Given the description of an element on the screen output the (x, y) to click on. 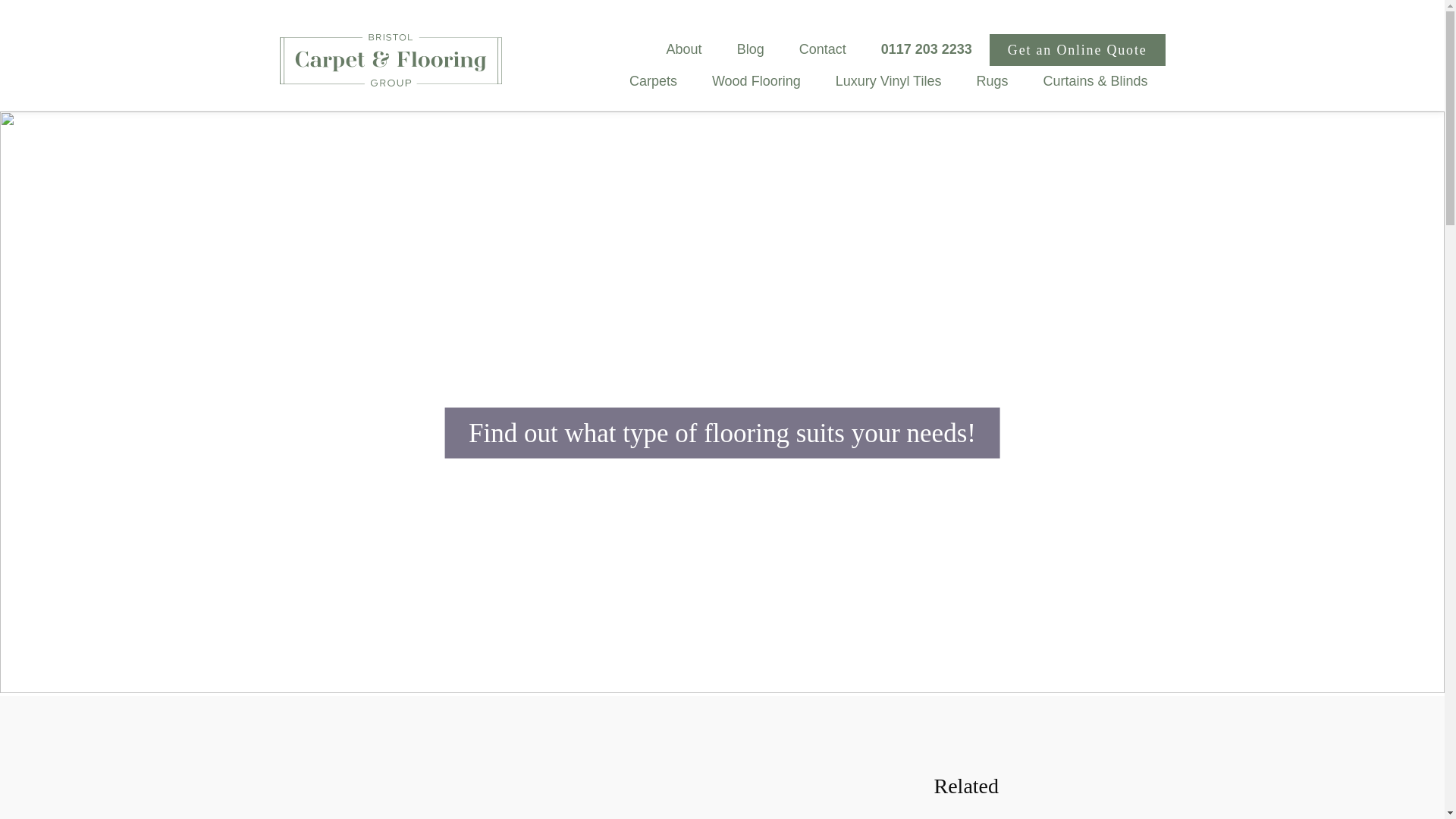
Contact (822, 48)
Get an Online Quote (1078, 50)
Carpets (652, 80)
About (683, 48)
0117 203 2233 (926, 48)
Rugs (991, 80)
Wood Flooring (755, 80)
Blog (750, 48)
Luxury Vinyl Tiles (888, 80)
